Given the description of an element on the screen output the (x, y) to click on. 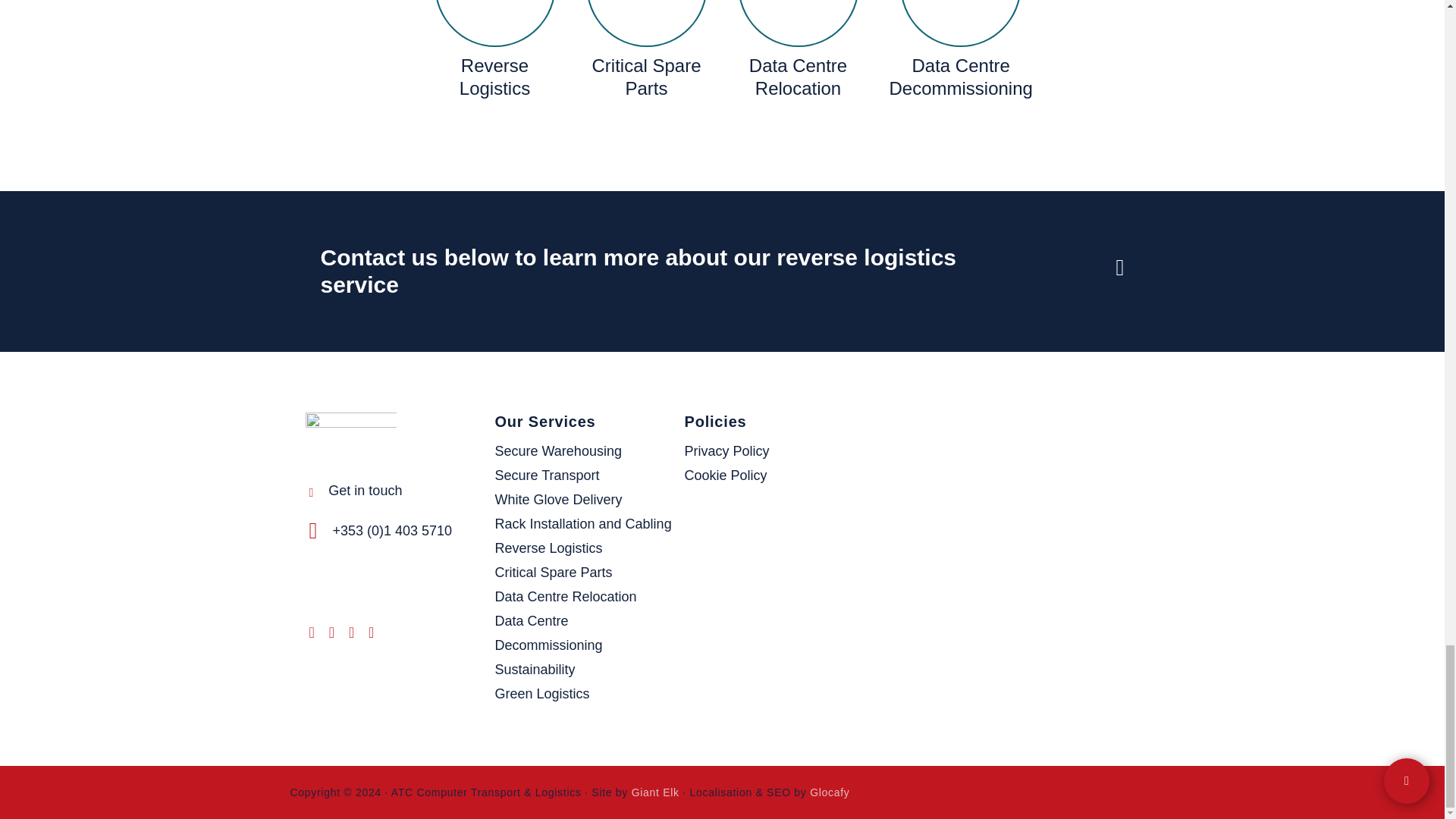
Critical Spare Parts (645, 76)
Reverse Logistics (493, 76)
